Given the description of an element on the screen output the (x, y) to click on. 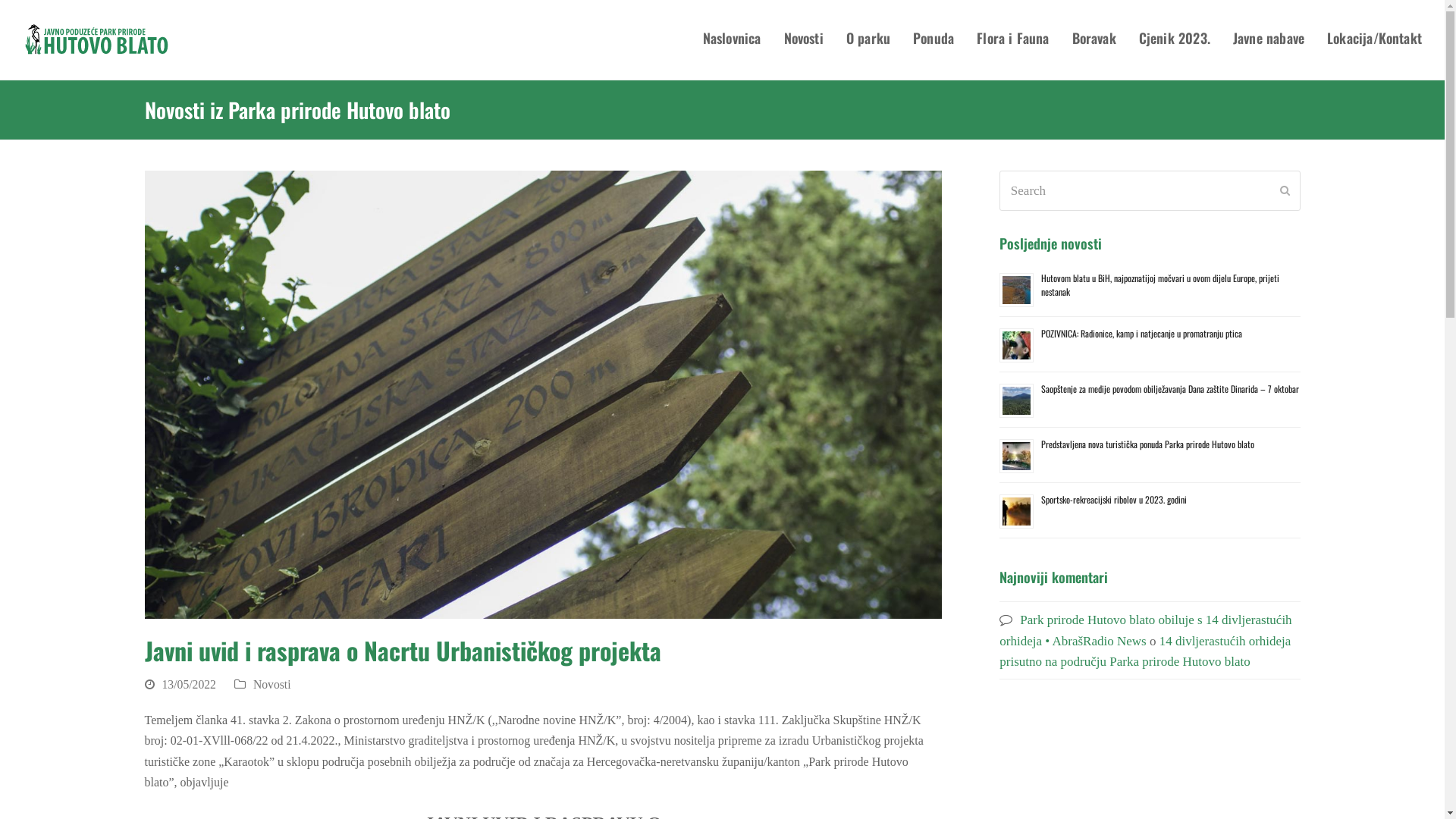
Ponuda Element type: text (933, 40)
Novosti Element type: text (803, 40)
Boravak Element type: text (1093, 40)
Naslovnica Element type: text (731, 40)
O parku Element type: text (867, 40)
Flora i Fauna Element type: text (1012, 40)
Cjenik 2023. Element type: text (1174, 40)
POZIVNICA: Radionice, kamp i natjecanje u promatranju ptica Element type: text (1141, 332)
Sportsko-rekreacijski ribolov u 2023. godini Element type: text (1113, 498)
Novosti Element type: text (272, 683)
Javne nabave Element type: text (1268, 40)
Submit Element type: text (1284, 189)
Lokacija/Kontakt Element type: text (1374, 40)
